Given the description of an element on the screen output the (x, y) to click on. 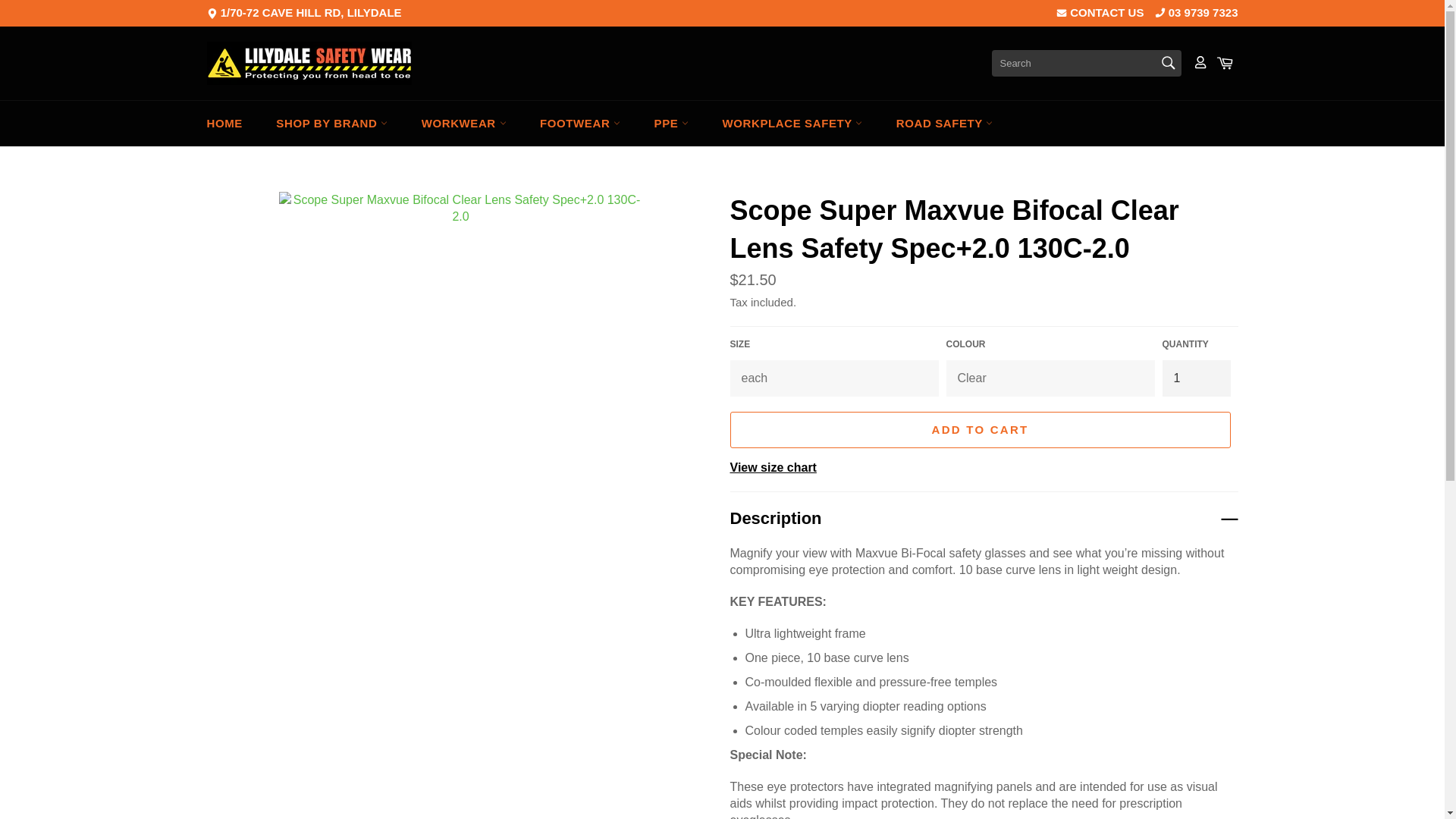
1 (1195, 378)
